Given the description of an element on the screen output the (x, y) to click on. 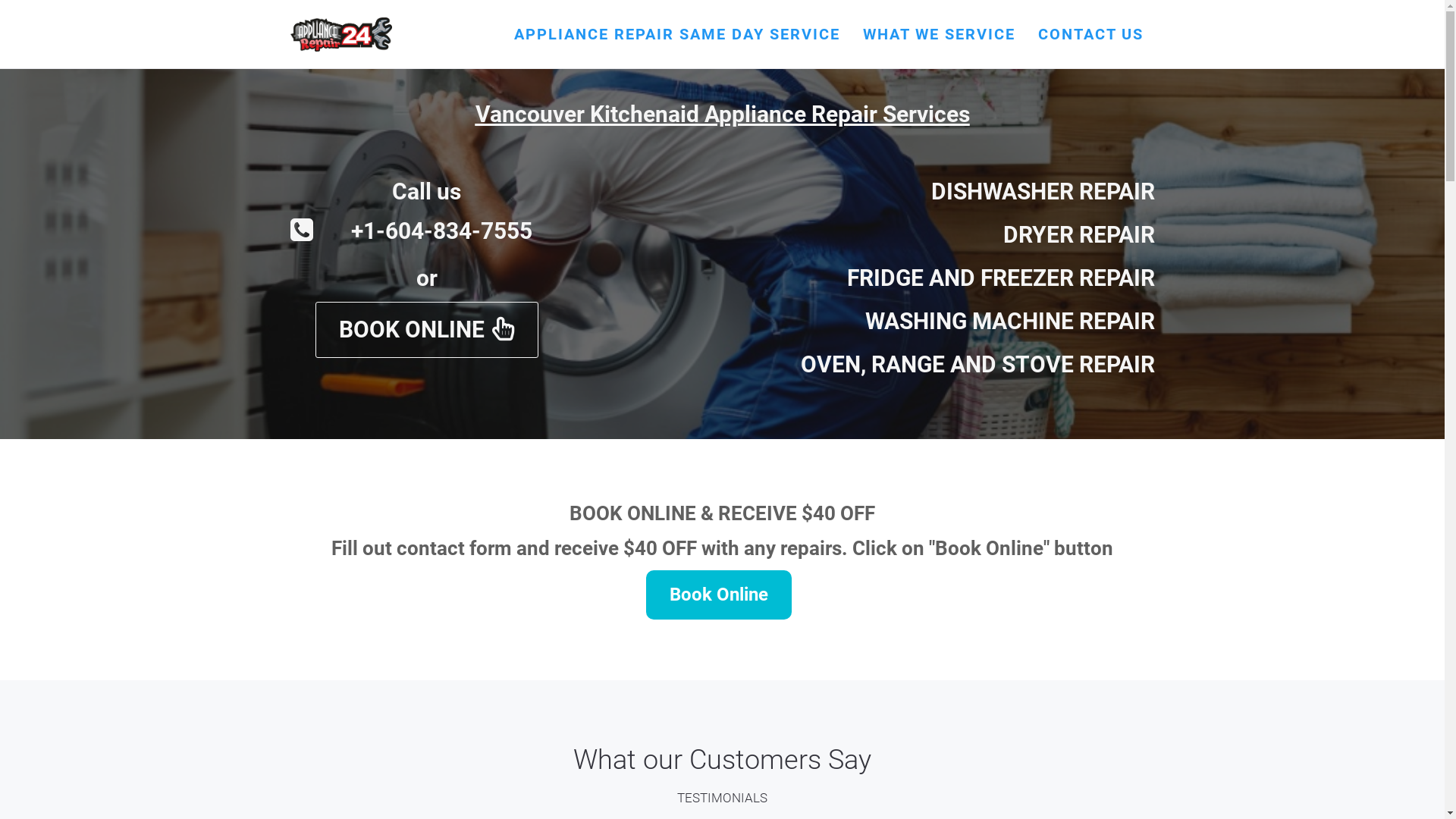
DISHWASHER REPAIR Element type: text (1042, 191)
WHAT WE SERVICE Element type: text (938, 34)
APPLIANCE REPAIR SAME DAY SERVICE Element type: text (676, 34)
FRIDGE AND FREEZER REPAIR Element type: text (1000, 277)
BOOK ONLINE Element type: text (426, 329)
WASHING MACHINE REPAIR Element type: text (1009, 320)
DRYER REPAIR Element type: text (1078, 234)
OVEN, RANGE AND STOVE REPAIR Element type: text (977, 364)
+1-604-834-7555 Element type: text (441, 231)
Book Online Element type: text (718, 595)
CONTACT US Element type: text (1090, 34)
